Given the description of an element on the screen output the (x, y) to click on. 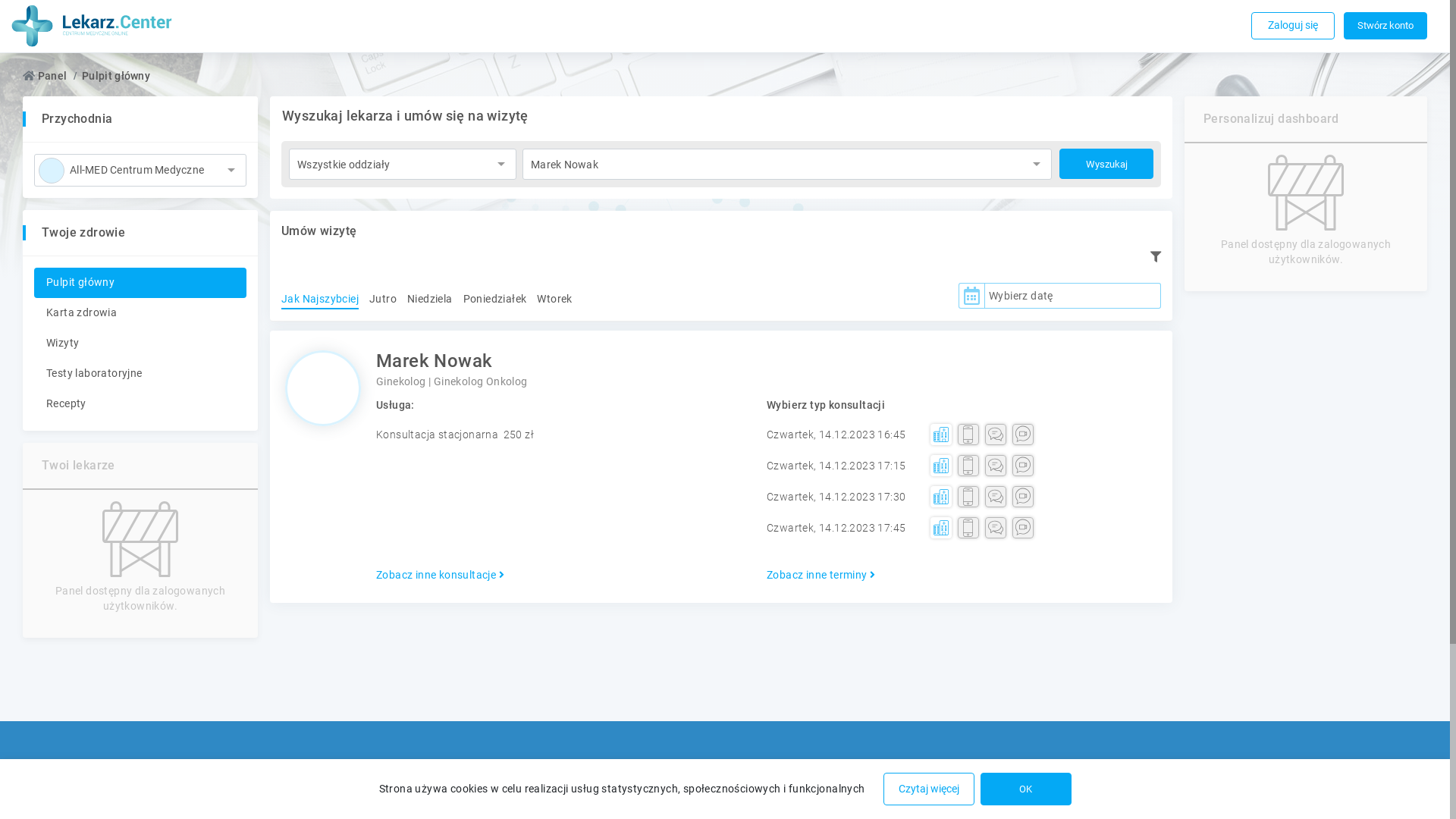
Filtruj Element type: hover (1155, 256)
Wyszukaj Element type: text (1106, 163)
Lekarz.Center - Centrum medyczne online Element type: hover (91, 25)
Karta zdrowia Element type: text (140, 313)
Testy laboratoryjne Element type: text (140, 373)
OK Element type: text (1024, 788)
Recepty Element type: text (140, 404)
Wizyty Element type: text (140, 343)
